Given the description of an element on the screen output the (x, y) to click on. 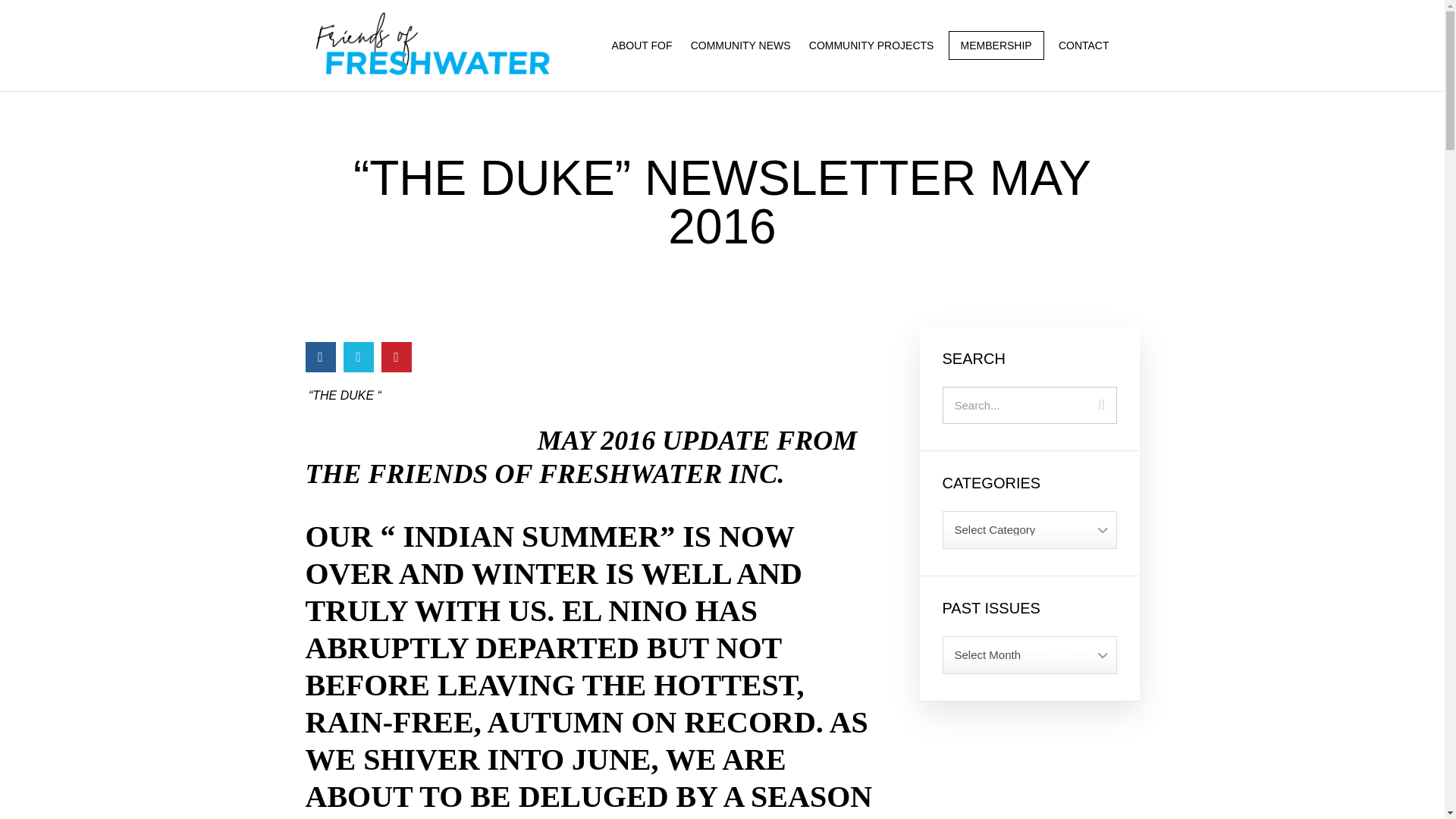
CONTACT (1083, 45)
COMMUNITY NEWS (739, 45)
COMMUNITY PROJECTS (872, 45)
MEMBERSHIP (996, 45)
ABOUT FOF (641, 45)
Share on Pinterest (395, 356)
Share on Facebook (319, 356)
Share on Twitter (357, 356)
